Given the description of an element on the screen output the (x, y) to click on. 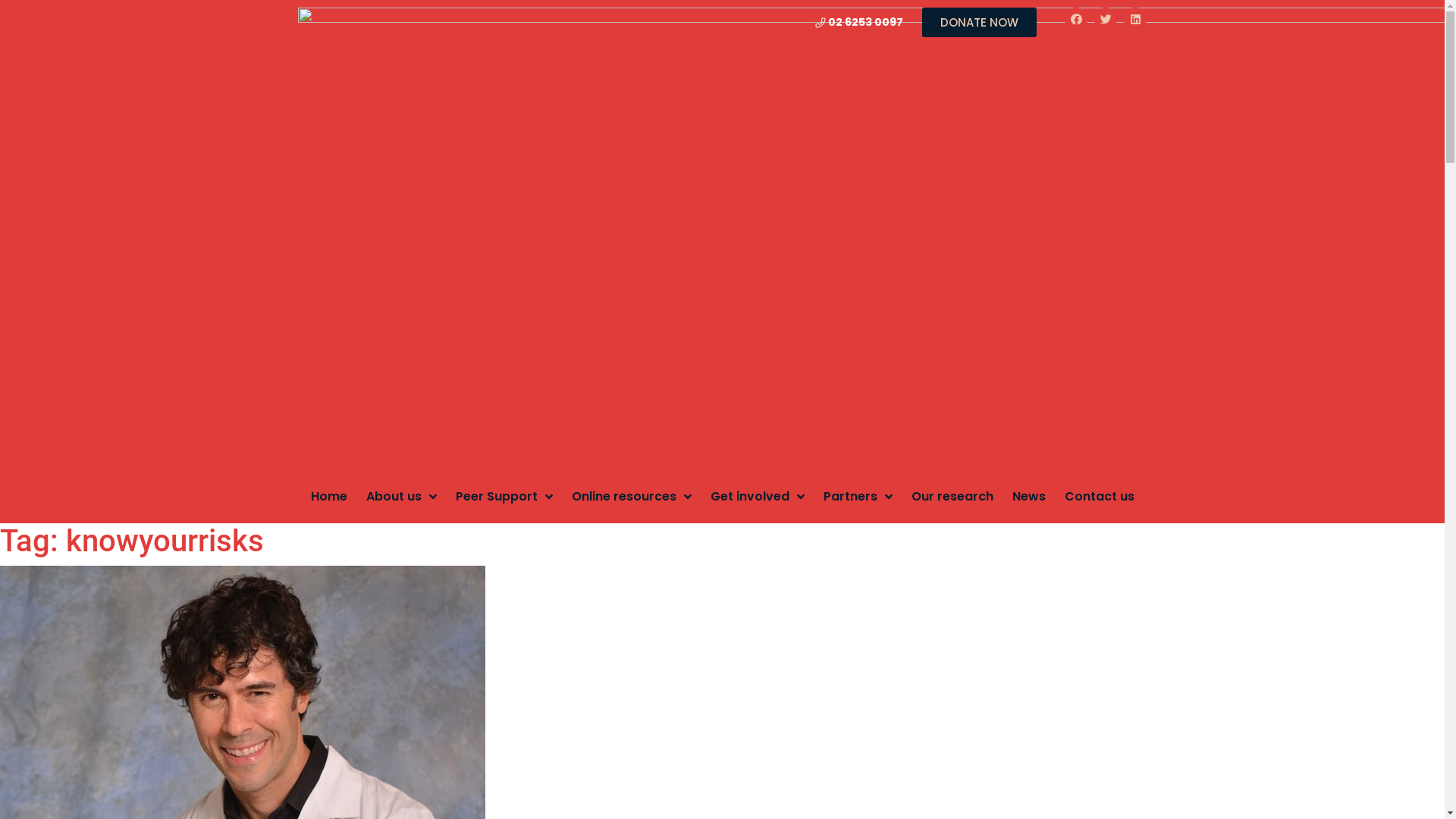
Get involved Element type: text (756, 495)
 02 6253 0097 Element type: text (859, 21)
News Element type: text (1027, 495)
Home Element type: text (328, 495)
Partners Element type: text (857, 495)
DONATE NOW Element type: text (979, 22)
Peer Support Element type: text (503, 495)
Our research Element type: text (952, 495)
About us Element type: text (400, 495)
Contact us Element type: text (1099, 495)
Online resources Element type: text (631, 495)
